Given the description of an element on the screen output the (x, y) to click on. 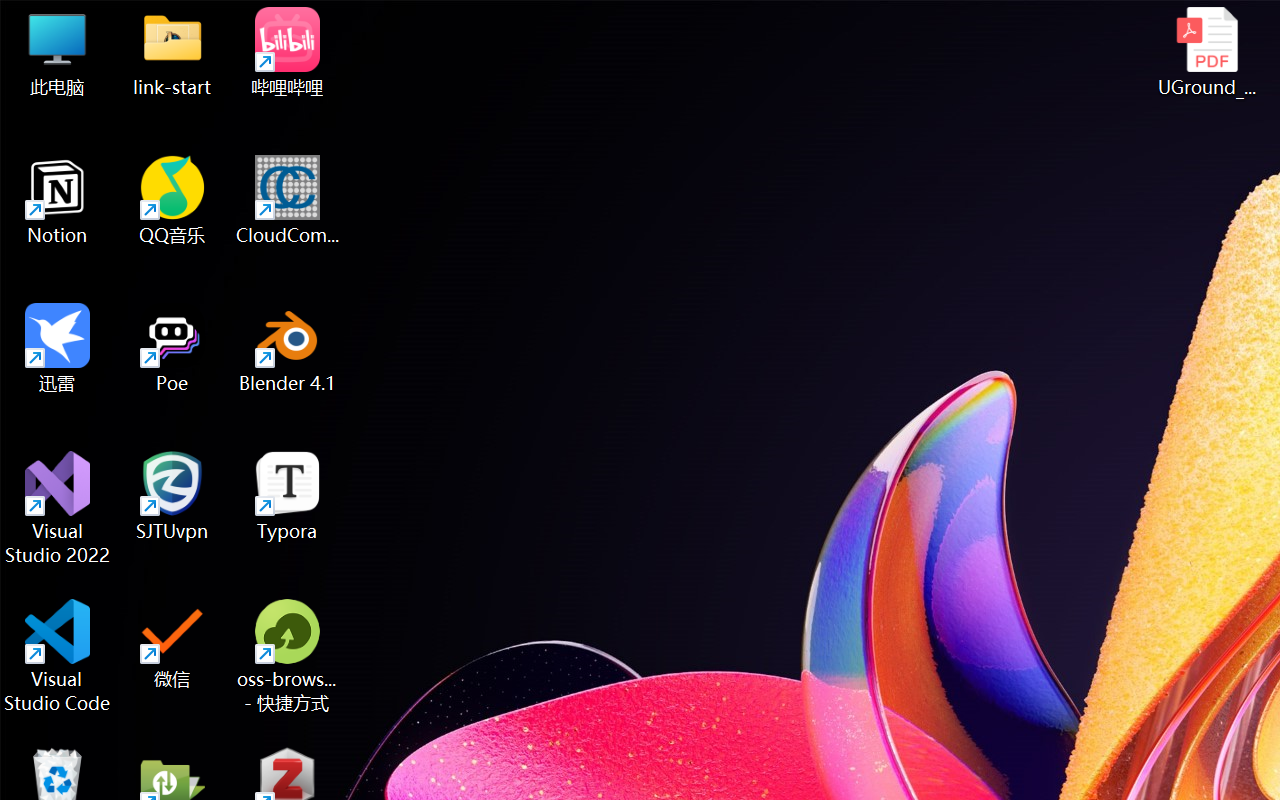
Typora (287, 496)
Visual Studio 2022 (57, 508)
UGround_paper.pdf (1206, 52)
Blender 4.1 (287, 348)
SJTUvpn (172, 496)
Visual Studio Code (57, 656)
CloudCompare (287, 200)
